Given the description of an element on the screen output the (x, y) to click on. 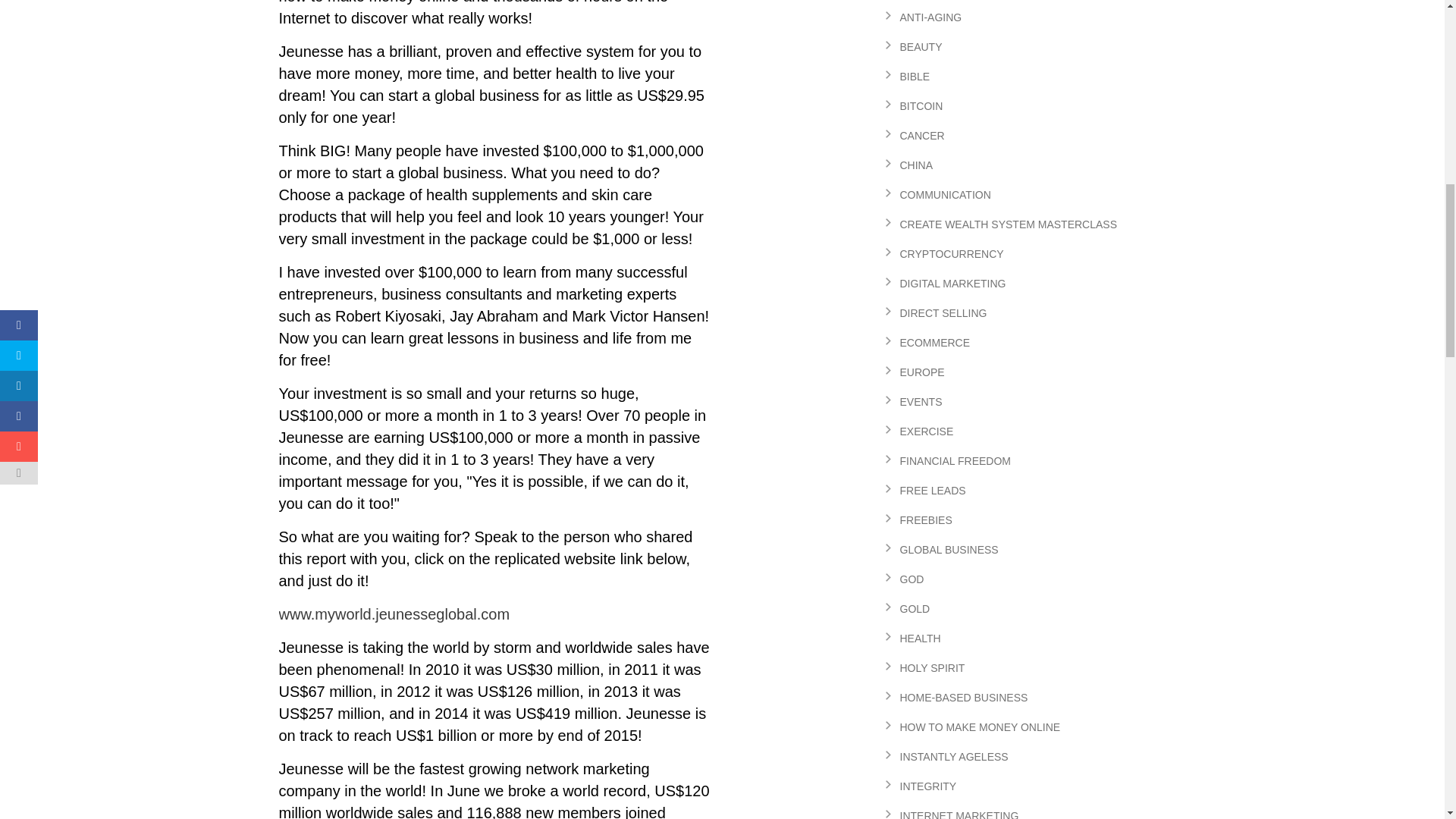
www.myworld.jeunesseglobal.com (395, 614)
